Given the description of an element on the screen output the (x, y) to click on. 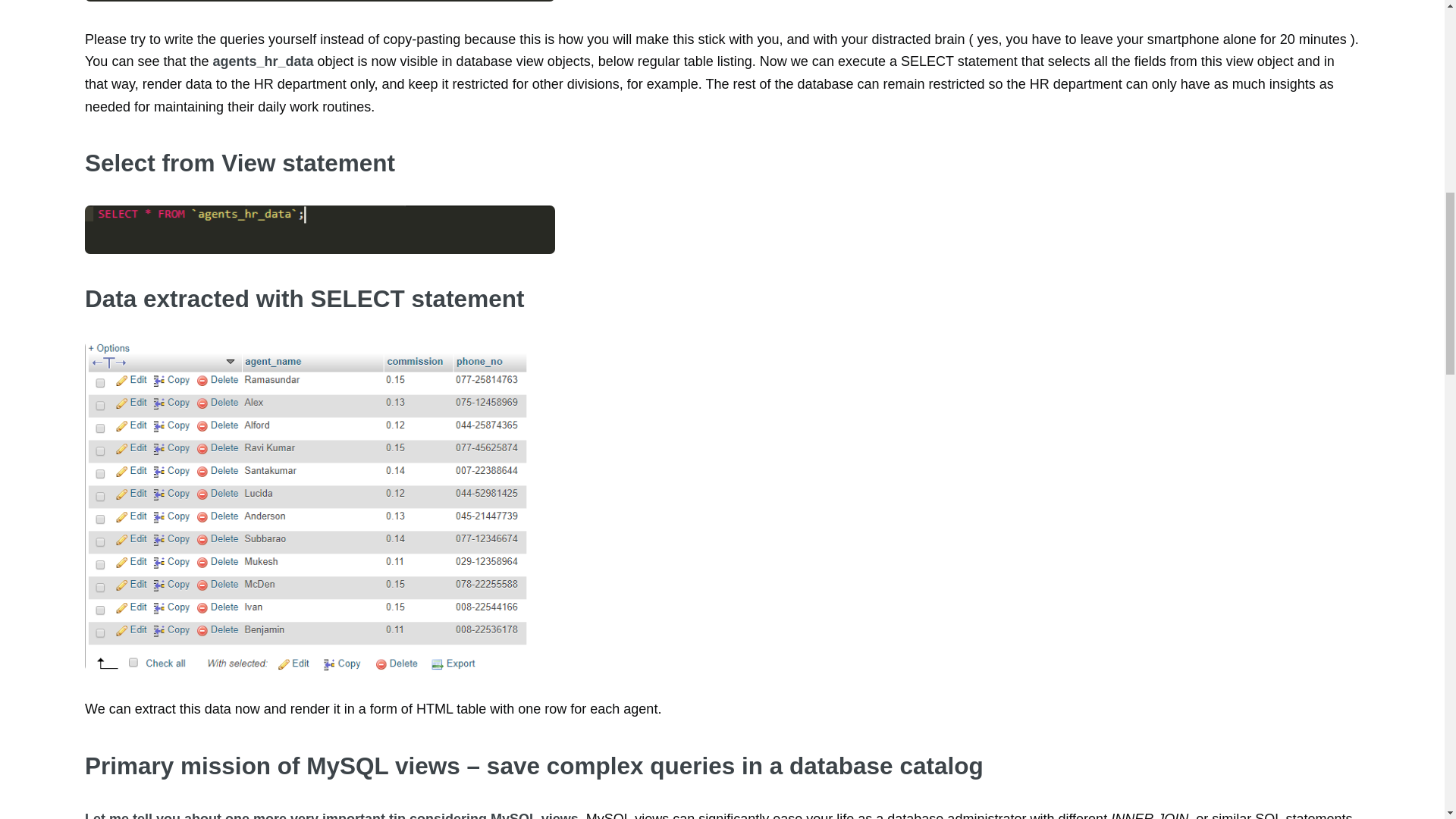
mysql views 2 (319, 229)
